Given the description of an element on the screen output the (x, y) to click on. 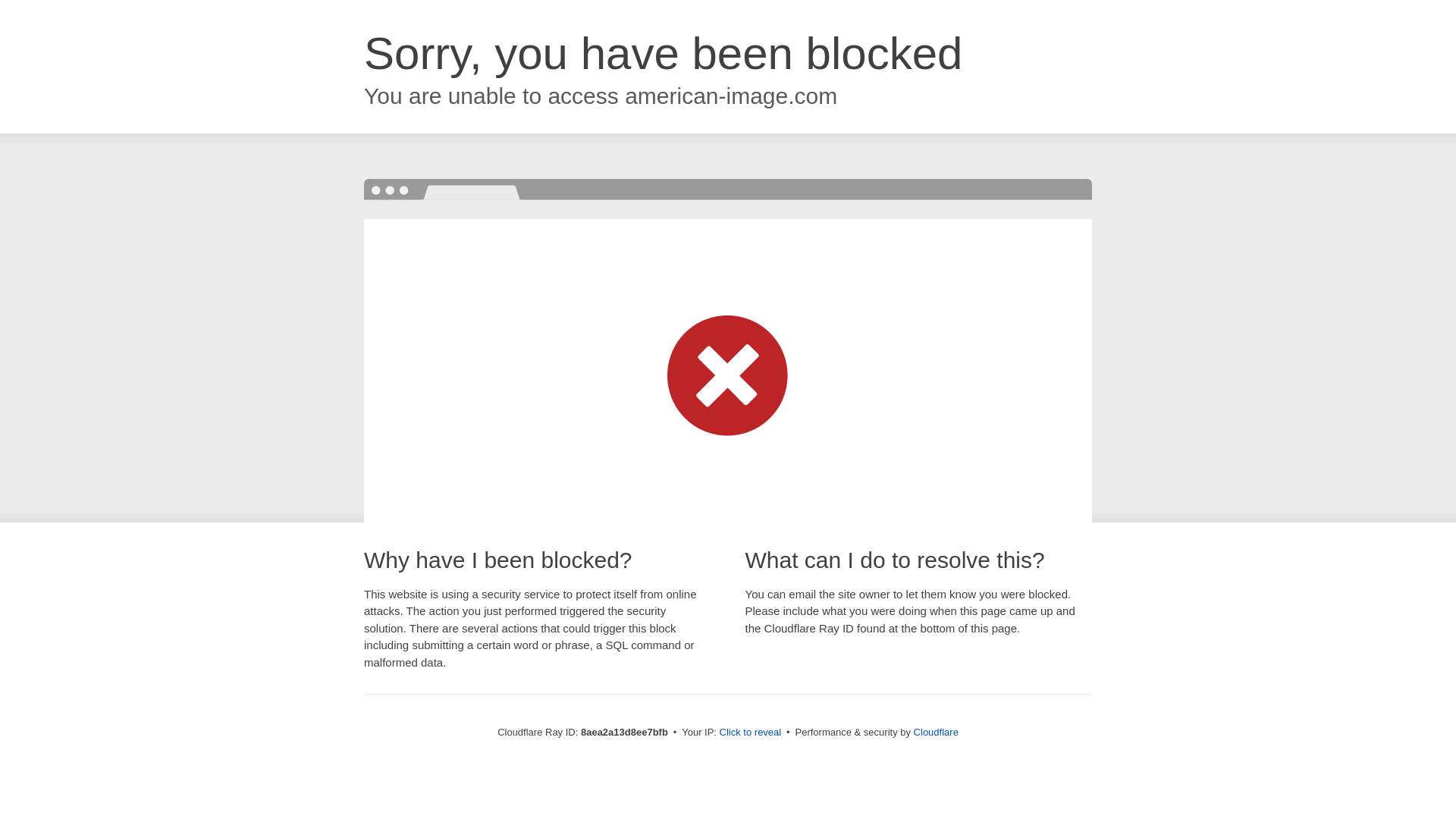
Cloudflare (936, 731)
Click to reveal (750, 732)
